Given the description of an element on the screen output the (x, y) to click on. 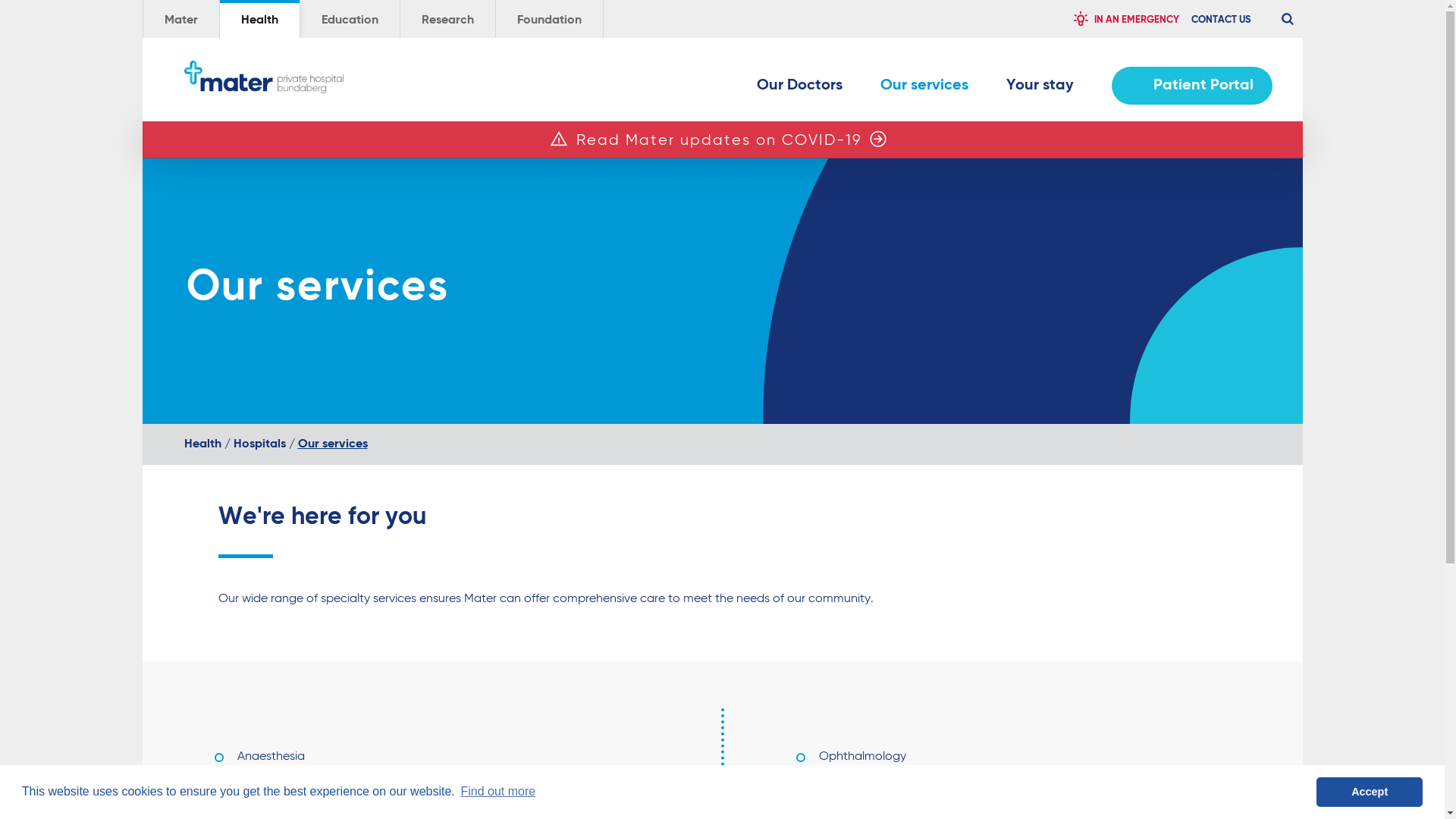
Find out more Element type: text (497, 791)
Read Mater updates on COVID-19 Element type: text (719, 140)
Foundation Element type: text (548, 18)
Mater Element type: text (180, 18)
Patient Portal Element type: text (1191, 85)
Your stay Element type: text (1039, 89)
Health Element type: text (259, 18)
IN AN EMERGENCY Element type: text (1124, 18)
Research Element type: text (447, 18)
Mater Private Hospital Bundaberg Element type: hover (262, 76)
Education Element type: text (349, 18)
Health Element type: text (201, 444)
Hospitals Element type: text (259, 444)
Our Doctors Element type: text (799, 89)
Our services Element type: text (923, 89)
Accept Element type: text (1369, 791)
CONTACT US Element type: text (1220, 18)
